Given the description of an element on the screen output the (x, y) to click on. 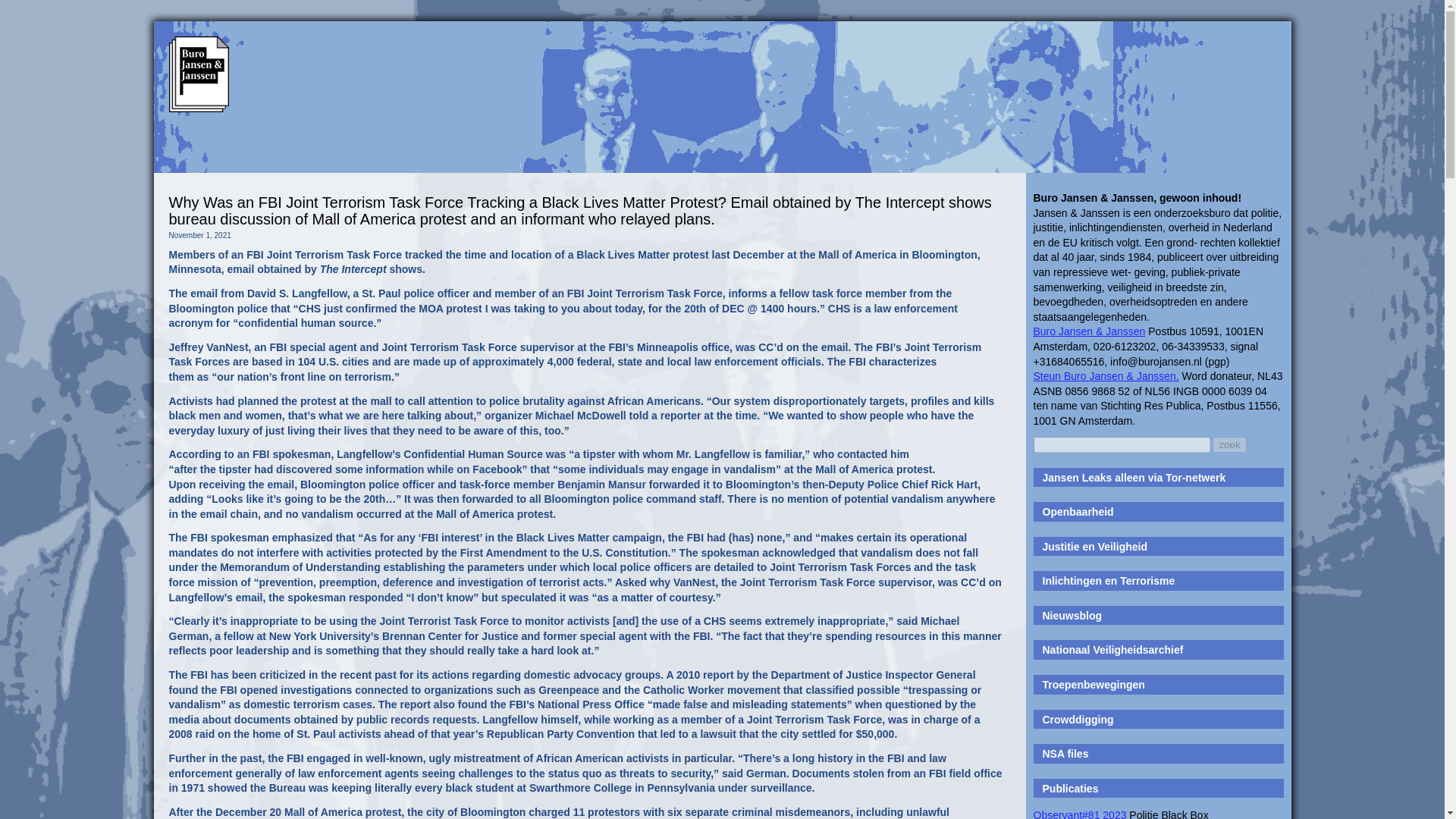
Crowddigging (1077, 719)
NSA files (1064, 753)
Nieuwsblog (1072, 615)
Jansen Leaks alleen via Tor-netwerk (1133, 477)
Openbaarheid (1077, 511)
zoek (1229, 444)
zoek (1229, 444)
Justitie en Veiligheid (1094, 546)
Inlichtingen en Terrorisme (1108, 580)
Nationaal Veiligheidsarchief (1112, 649)
